Given the description of an element on the screen output the (x, y) to click on. 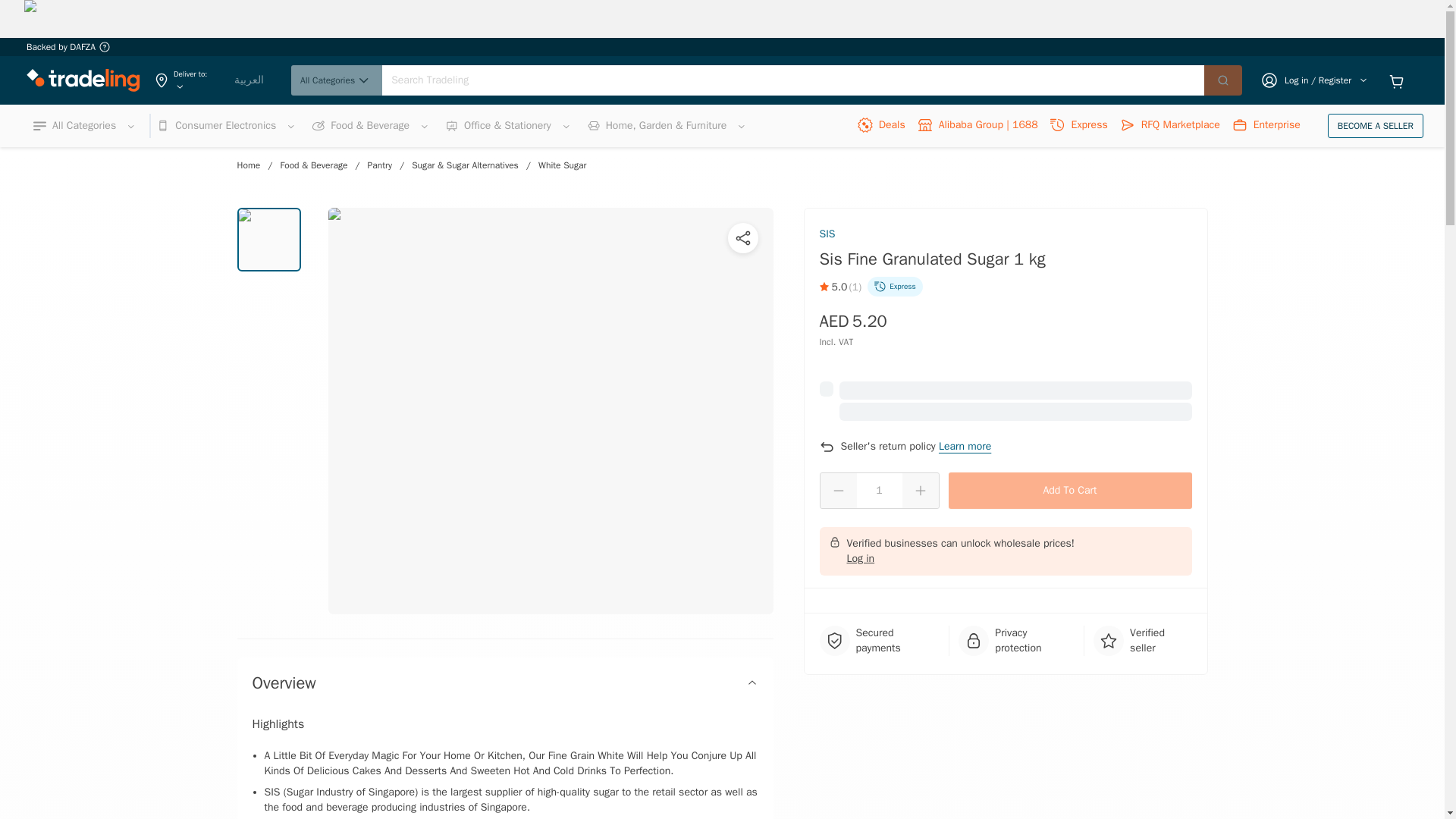
Tradeling (82, 80)
Deliver to: (187, 80)
RFQ Marketplace (1169, 125)
Enterprise (1265, 125)
Pantry (379, 164)
Express (1078, 125)
Home (247, 164)
1 (879, 490)
White Sugar (562, 164)
Deals (881, 125)
